Given the description of an element on the screen output the (x, y) to click on. 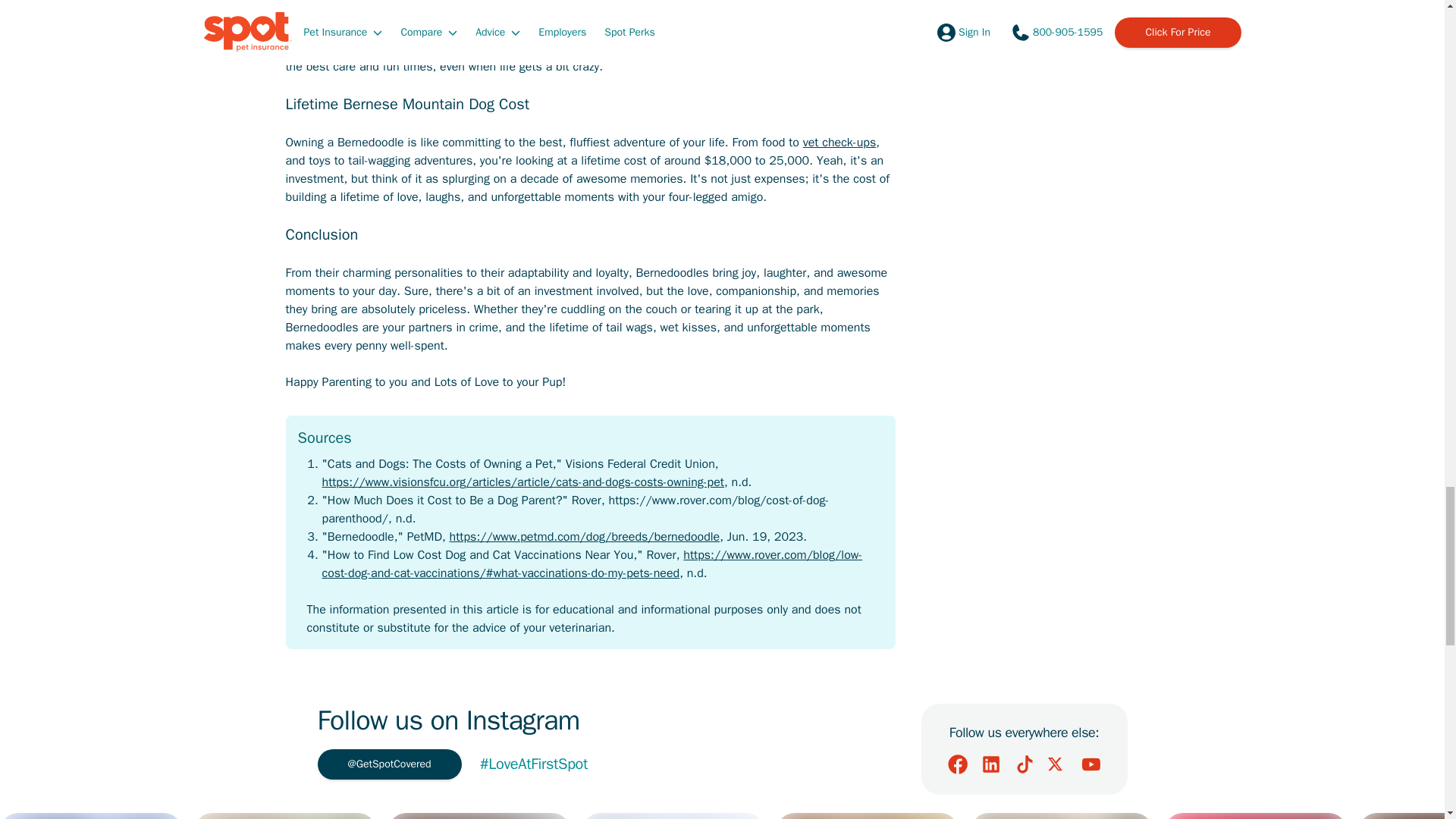
Spot on X (1056, 764)
Spot on LinkedIn (990, 764)
Spot on YouTube (1090, 764)
Spot on Facebook (956, 764)
Spot on TikTok (1023, 764)
